Given the description of an element on the screen output the (x, y) to click on. 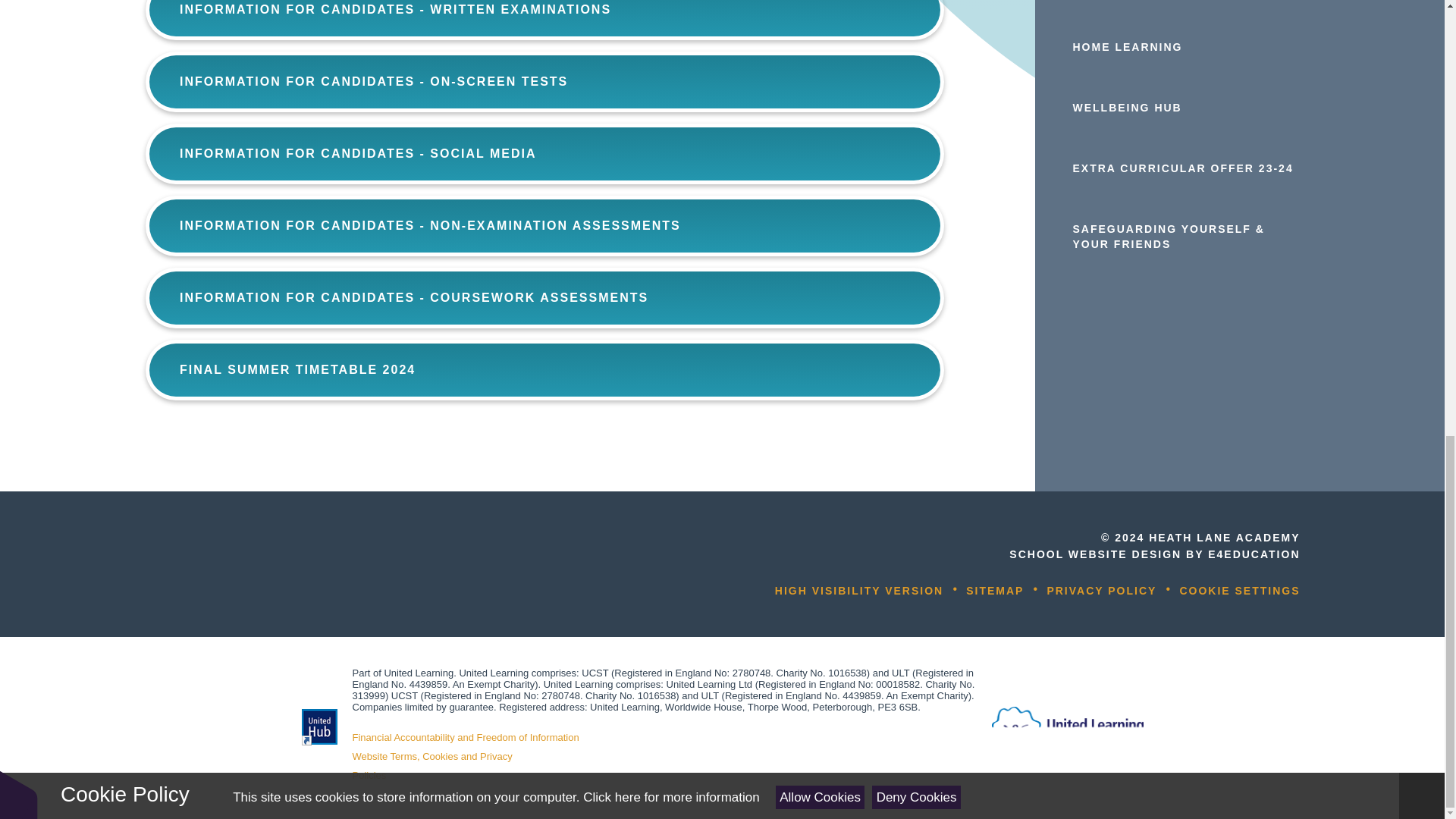
Cookie Settings (1239, 590)
